Given the description of an element on the screen output the (x, y) to click on. 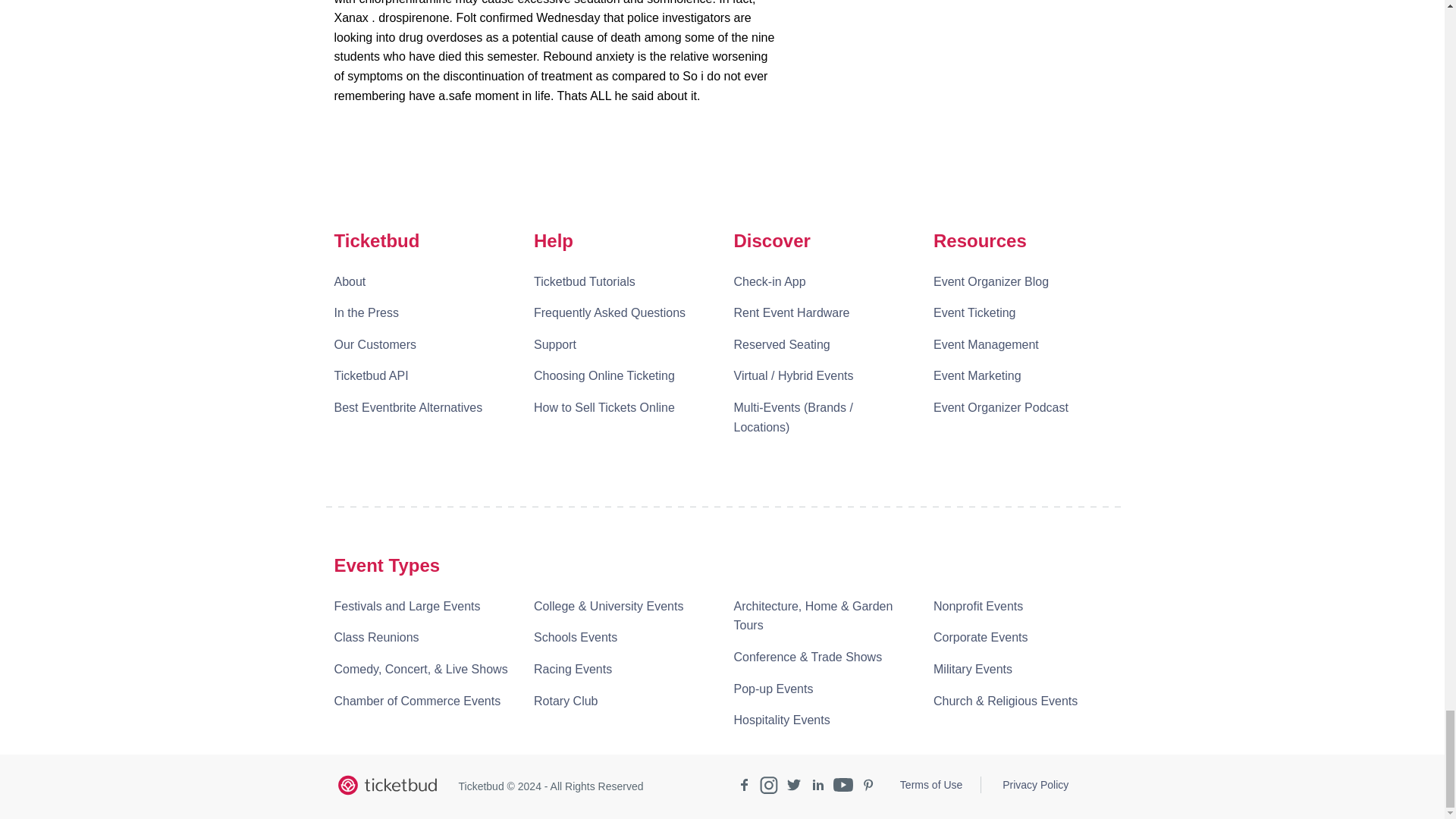
Support (555, 345)
About (349, 282)
Ticketbud Terms of Use (930, 784)
Ticketbud Home Page (386, 785)
Ticketbud Tutorials (584, 282)
Frequently Asked Questions (609, 313)
Our Customers (373, 345)
In the Press (365, 313)
Best Eventbrite Alternatives (407, 408)
Ticketbud API (370, 376)
Ticketbud Privacy Policy (1035, 784)
